Given the description of an element on the screen output the (x, y) to click on. 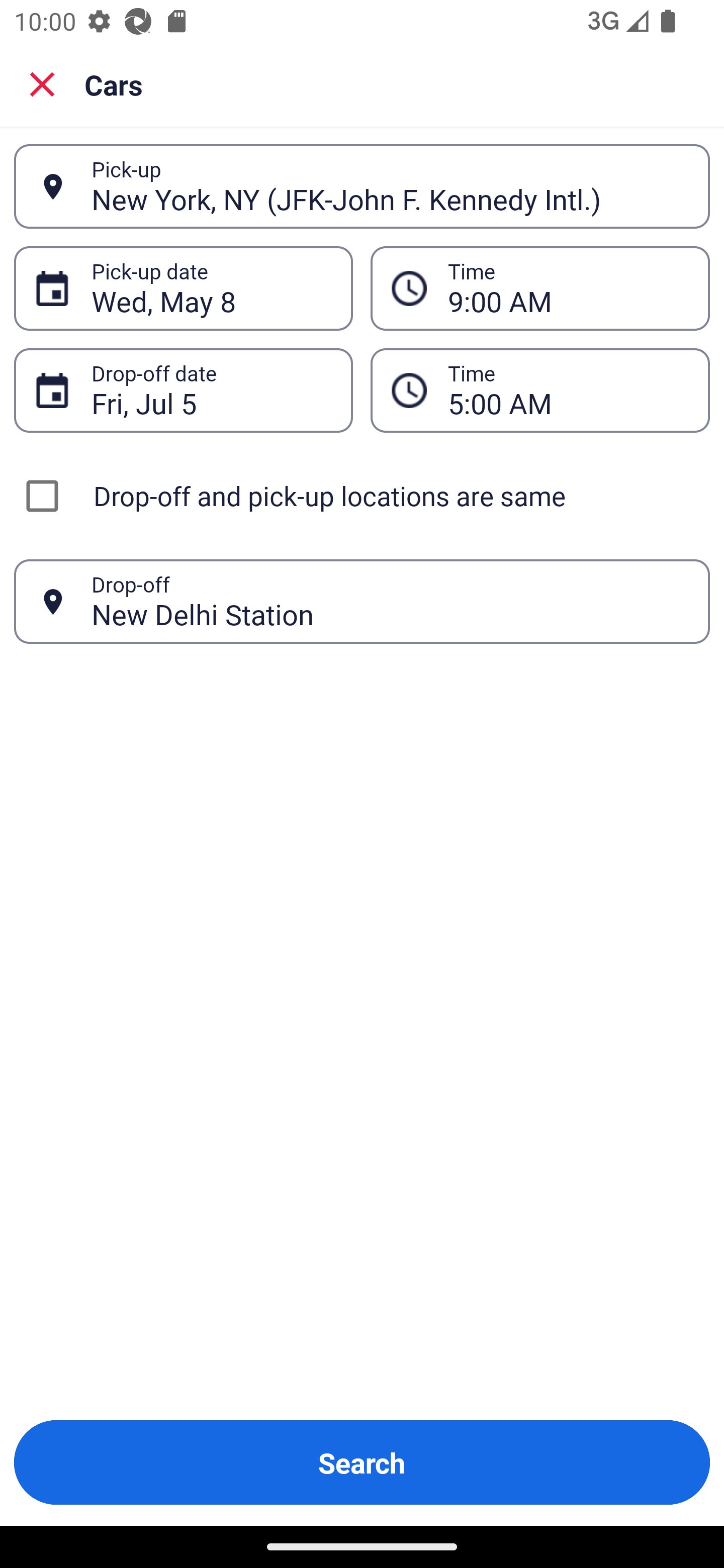
Close search screen (41, 83)
New York, NY (JFK-John F. Kennedy Intl.) Pick-up (361, 186)
New York, NY (JFK-John F. Kennedy Intl.) (389, 186)
Wed, May 8 Pick-up date (183, 288)
9:00 AM (540, 288)
Wed, May 8 (211, 288)
9:00 AM (568, 288)
Fri, Jul 5 Drop-off date (183, 390)
5:00 AM (540, 390)
Fri, Jul 5 (211, 390)
5:00 AM (568, 390)
Drop-off and pick-up locations are same (361, 495)
New Delhi Station Drop-off (361, 601)
New Delhi Station (389, 601)
Search Button Search (361, 1462)
